Given the description of an element on the screen output the (x, y) to click on. 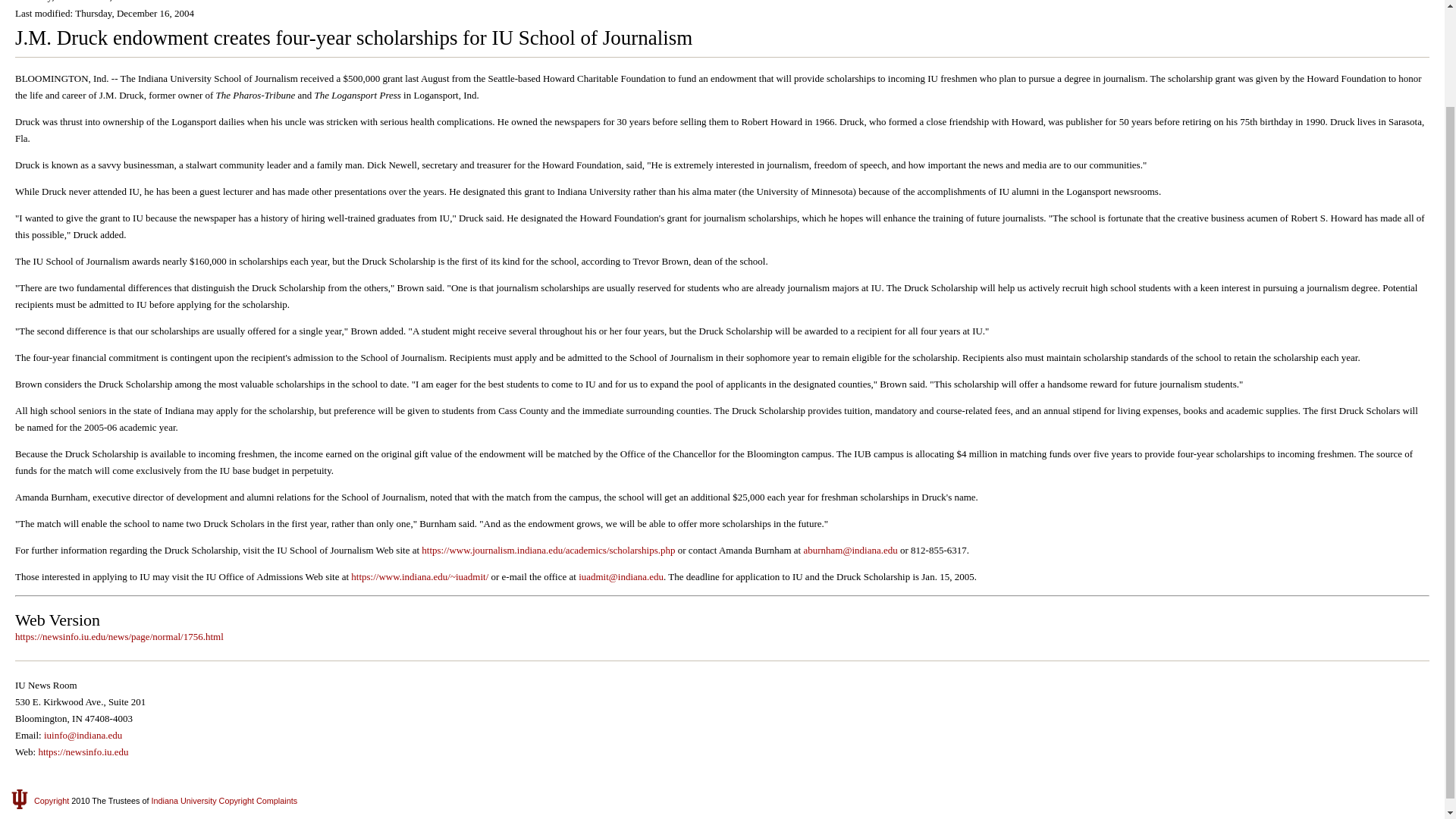
Copyright (50, 800)
Indiana University (183, 800)
Copyright Complaints (258, 800)
Copyright (50, 800)
Copyright Complaints (258, 800)
Indiana University (183, 800)
